Given the description of an element on the screen output the (x, y) to click on. 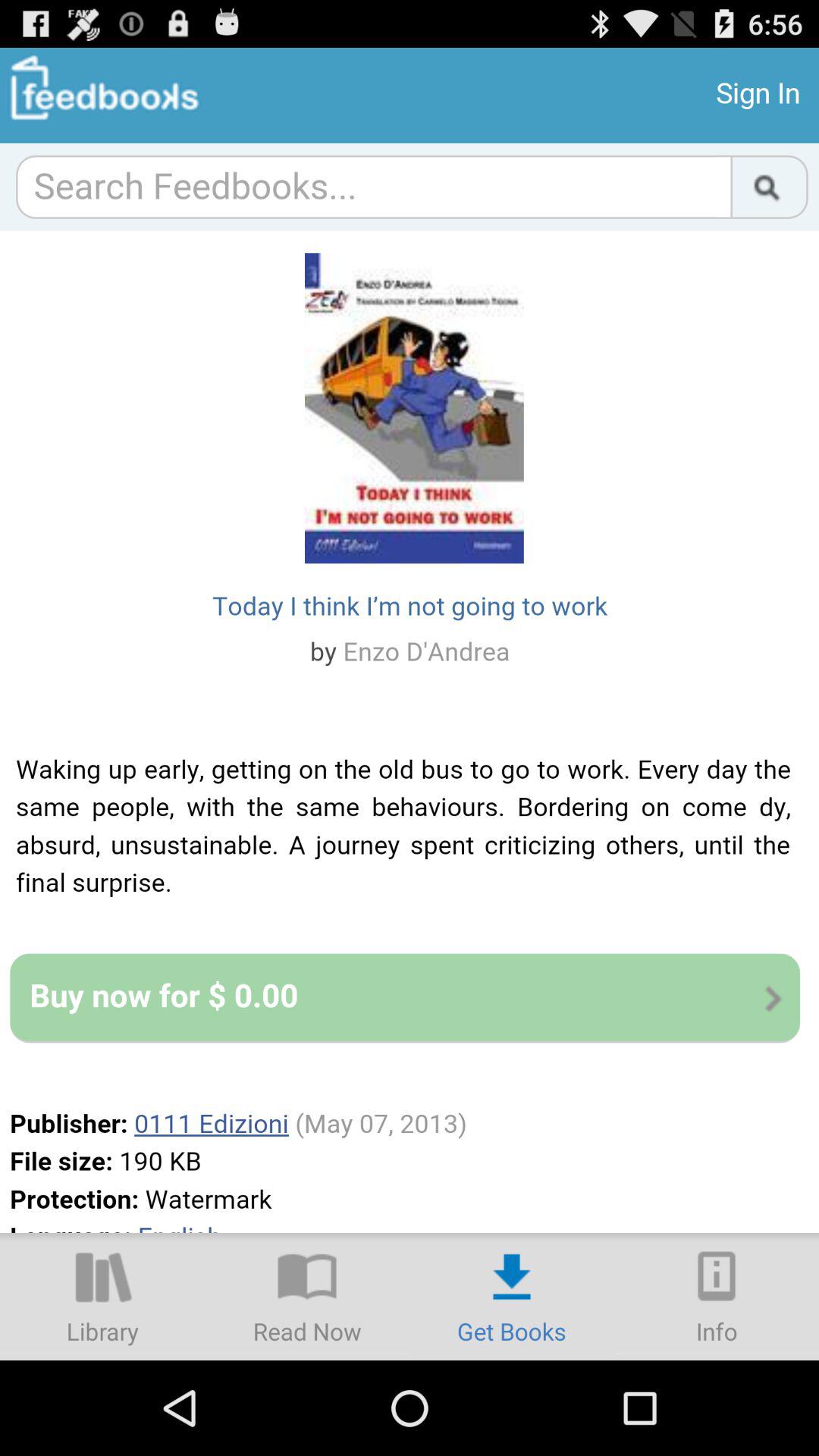
go to download (511, 1296)
